Given the description of an element on the screen output the (x, y) to click on. 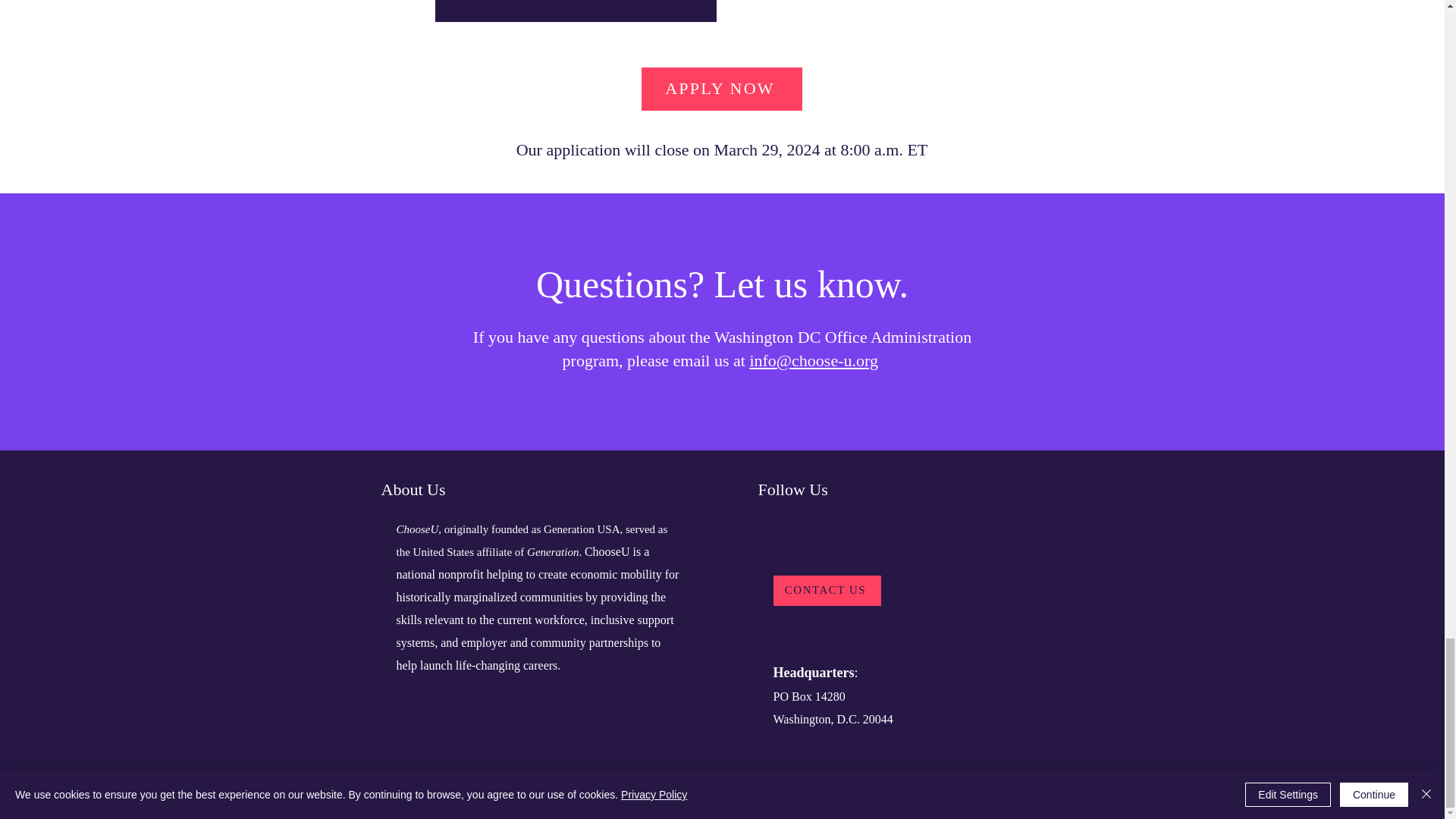
APPLY NOW (722, 88)
CONTACT US (826, 590)
Terms of Use (681, 792)
Privacy Policy (755, 792)
ChooseU Policies (839, 792)
